Given the description of an element on the screen output the (x, y) to click on. 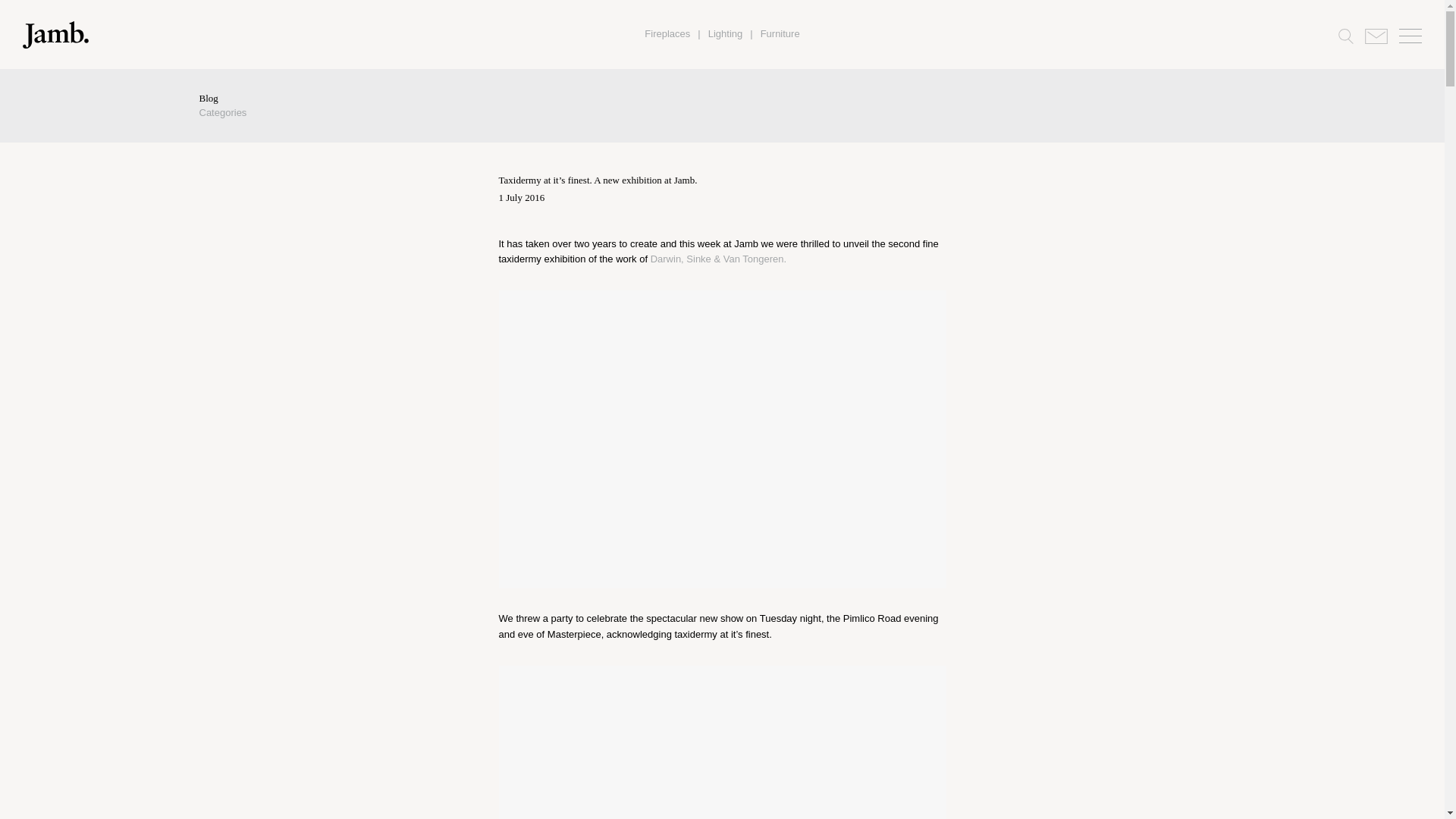
Fireplaces (667, 33)
Lighting (724, 33)
Furniture (779, 33)
